Given the description of an element on the screen output the (x, y) to click on. 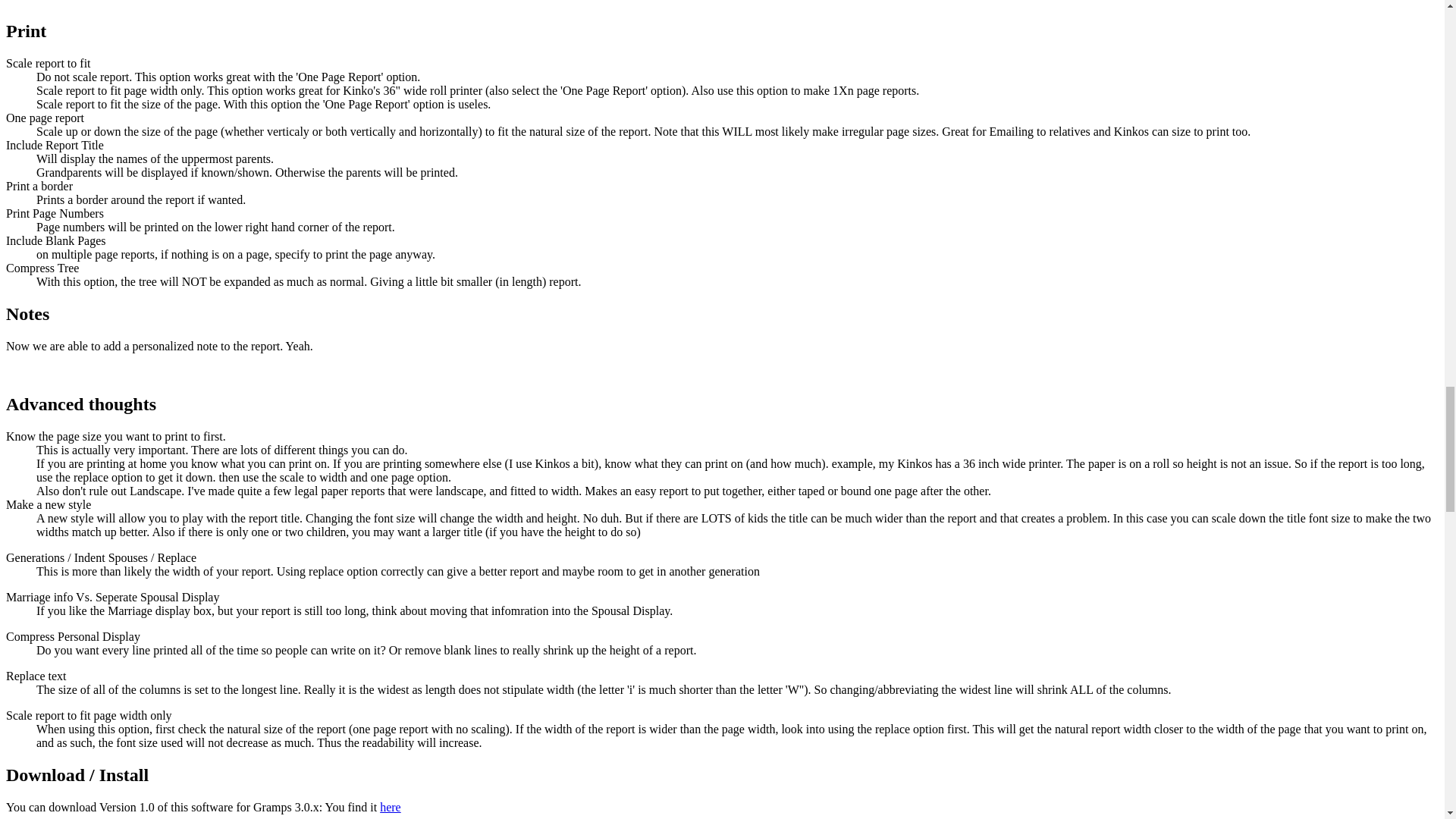
here (390, 807)
